Given the description of an element on the screen output the (x, y) to click on. 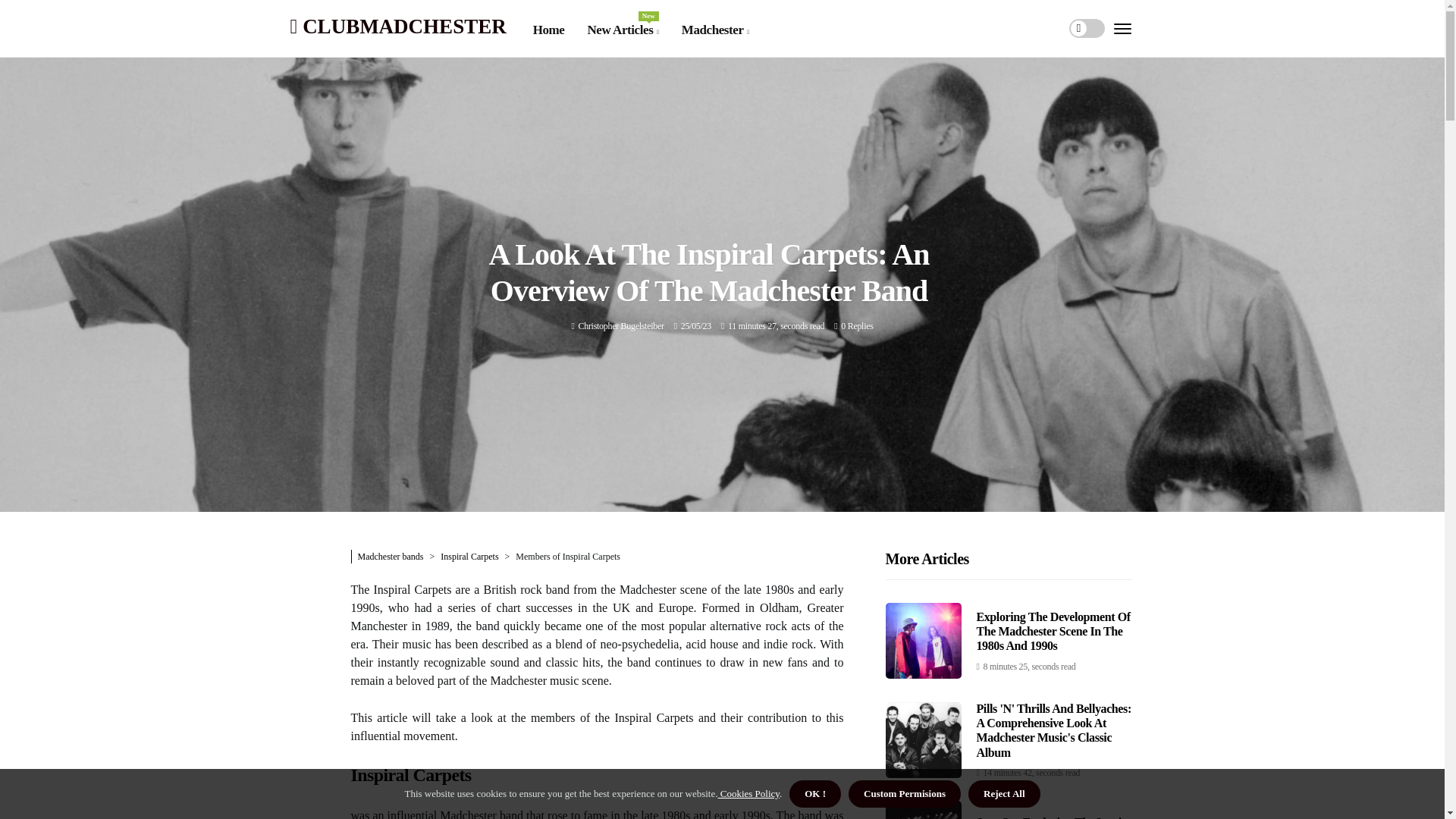
CLUBMADCHESTER (397, 26)
Home (548, 30)
Posts by Christopher Bugelsteiber (620, 326)
Madchester (622, 30)
